Given the description of an element on the screen output the (x, y) to click on. 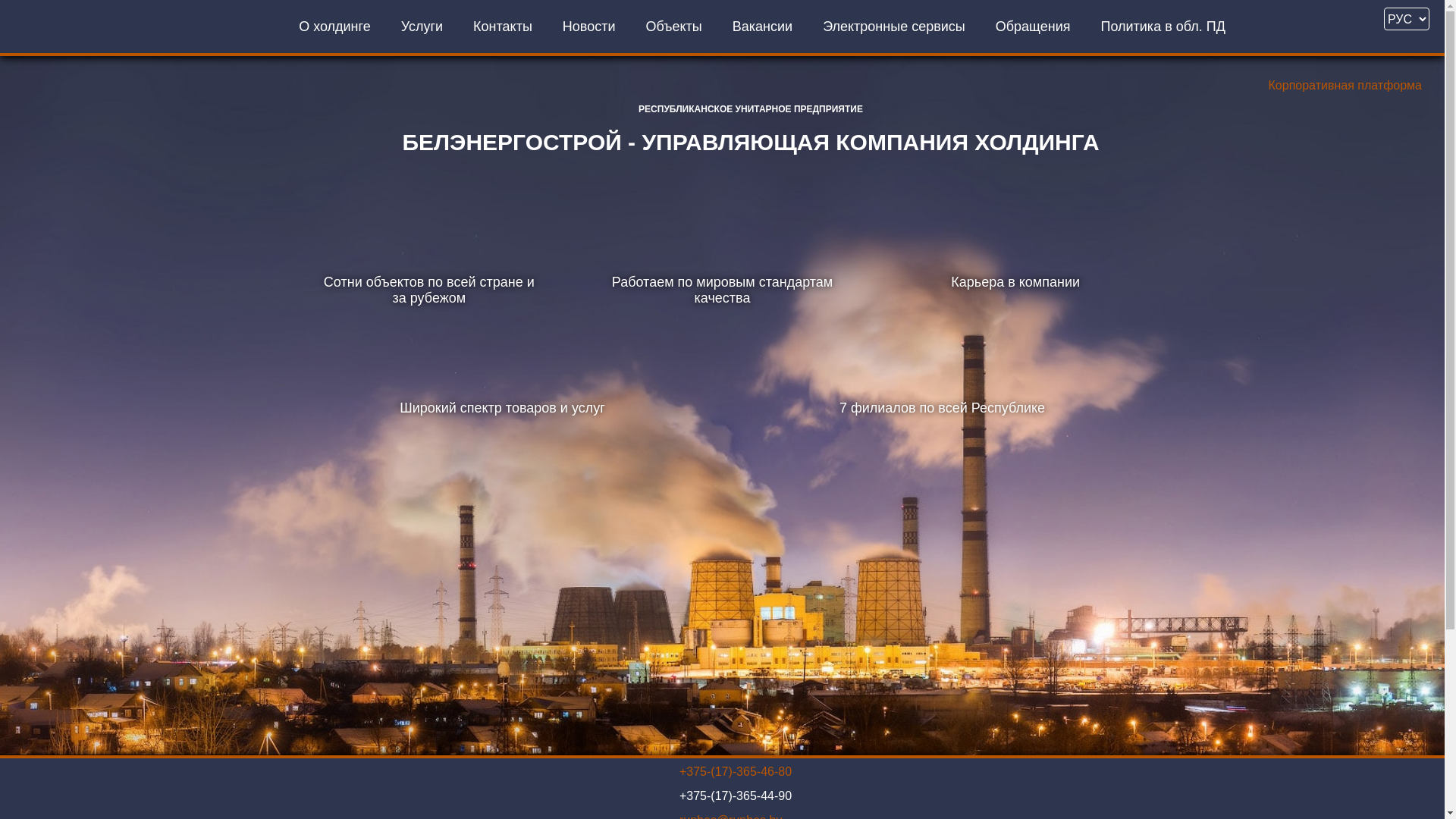
+375-(17)-365-46-80 Element type: text (735, 771)
